Given the description of an element on the screen output the (x, y) to click on. 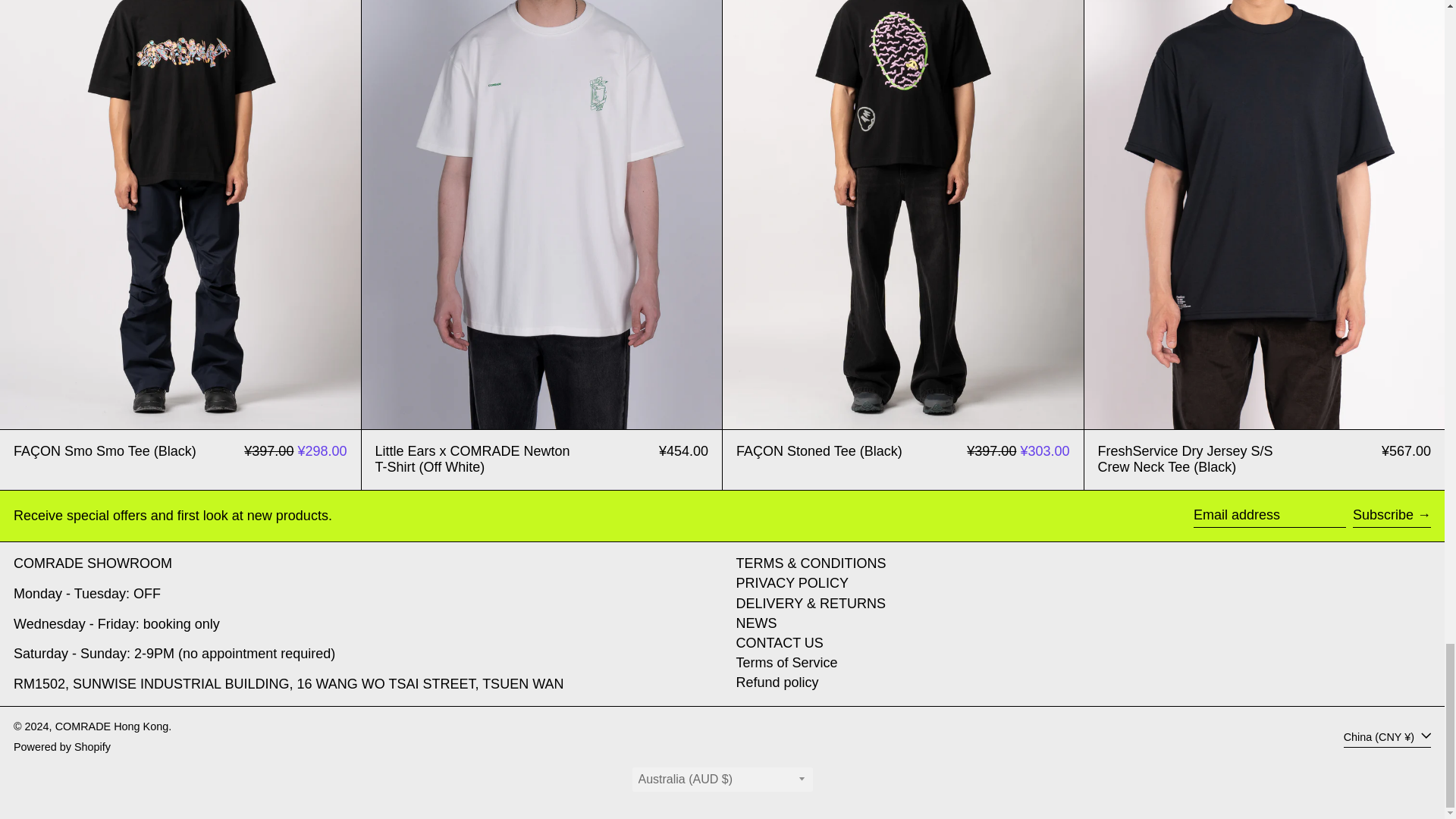
Terms of Service (786, 662)
NEWS (755, 622)
Powered by Shopify (61, 746)
PRIVACY POLICY (791, 582)
COMRADE Hong Kong (111, 726)
CONTACT US (778, 642)
Subscribe (1391, 516)
Refund policy (776, 682)
